Given the description of an element on the screen output the (x, y) to click on. 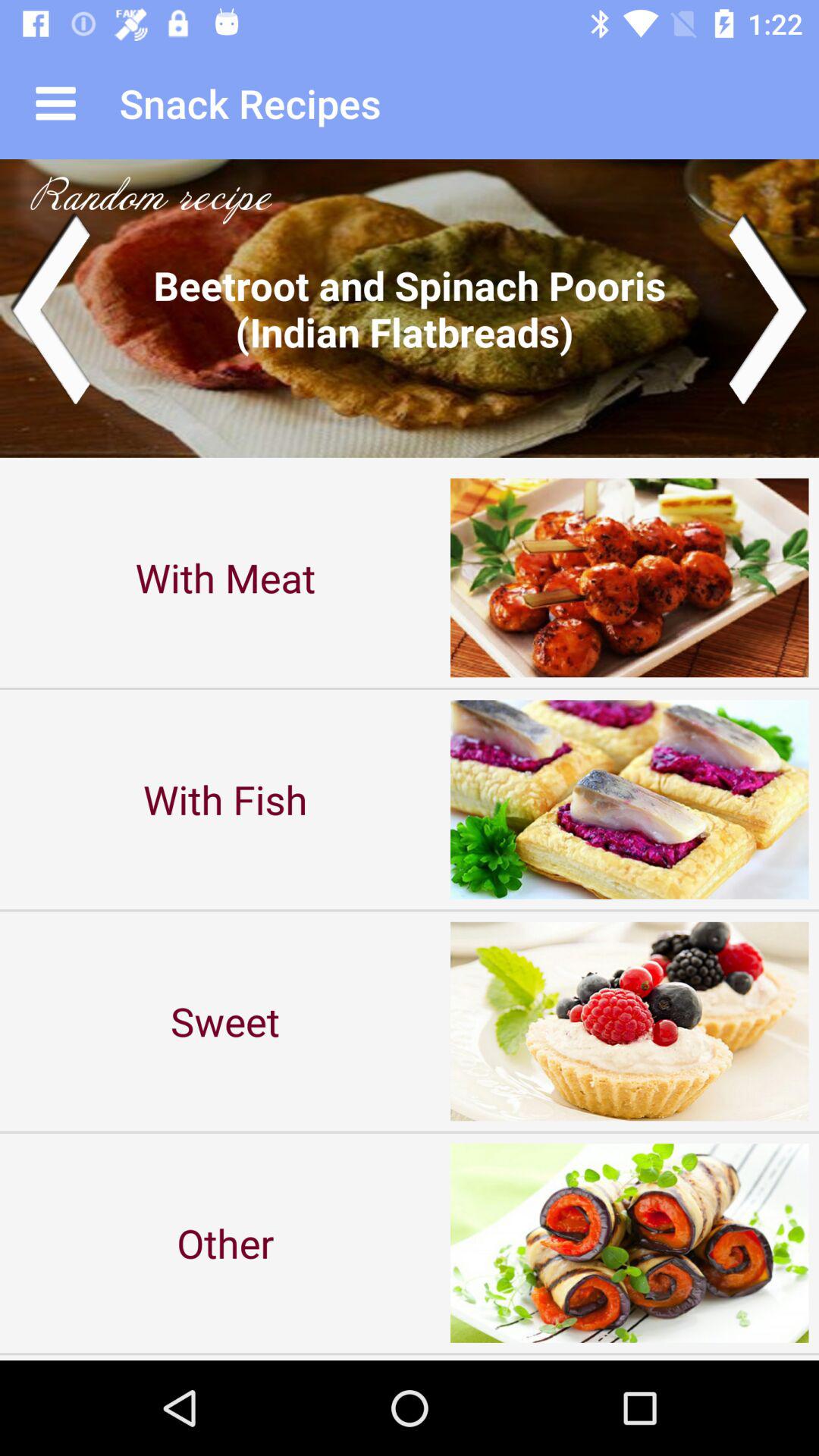
go to next dish (409, 308)
